Given the description of an element on the screen output the (x, y) to click on. 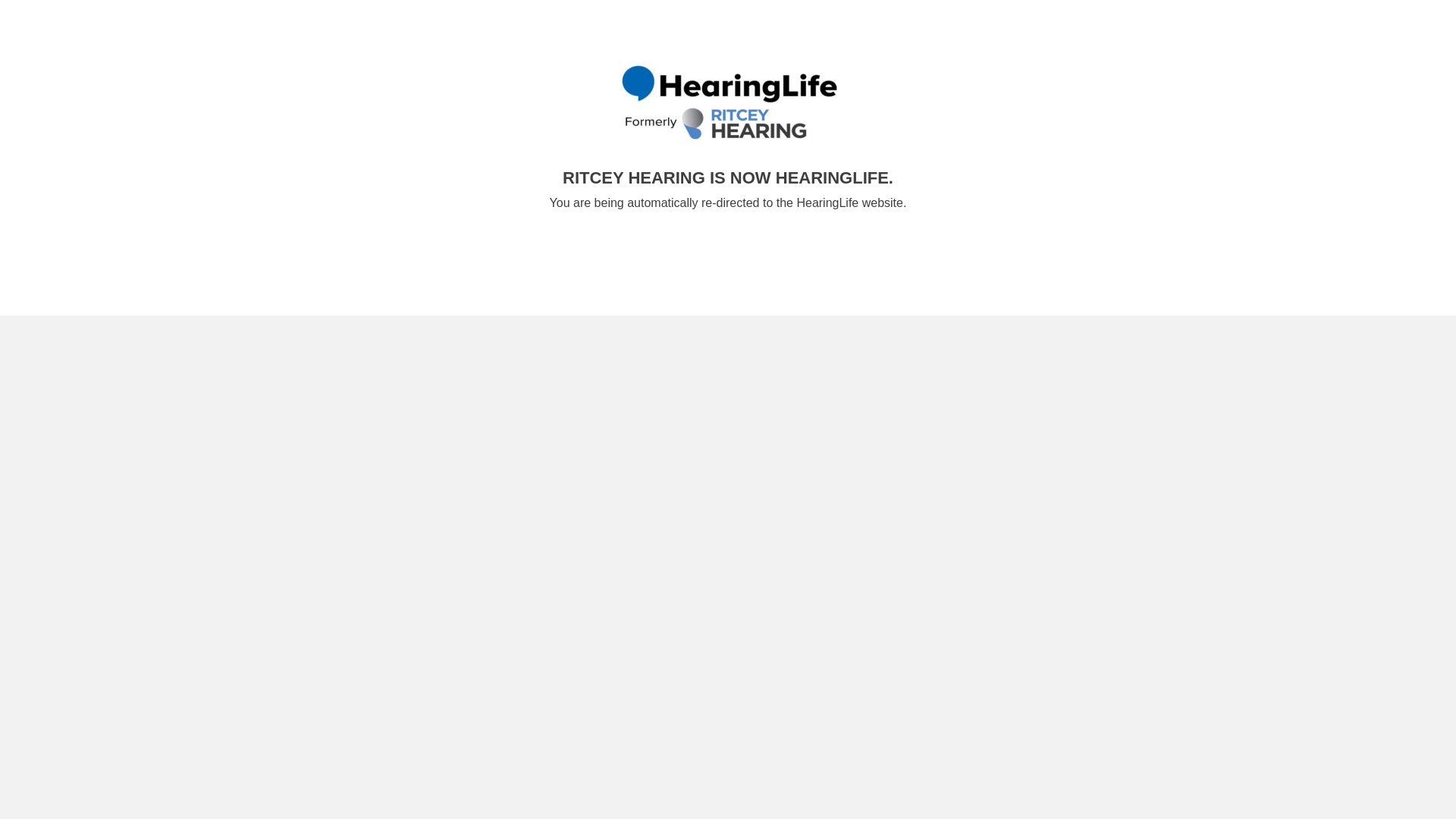
ritcey-hearing-website logo (727, 104)
